Given the description of an element on the screen output the (x, y) to click on. 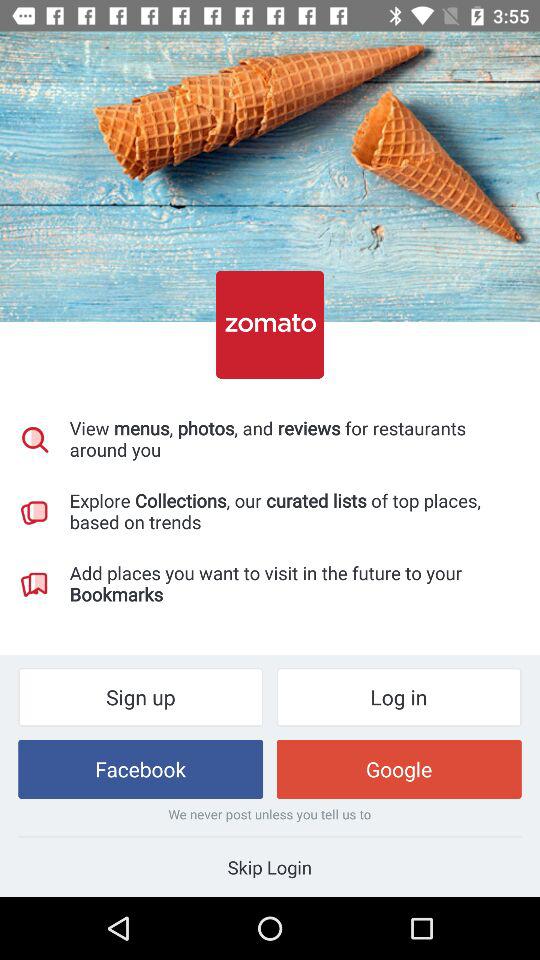
launch item below the add places you icon (398, 696)
